Given the description of an element on the screen output the (x, y) to click on. 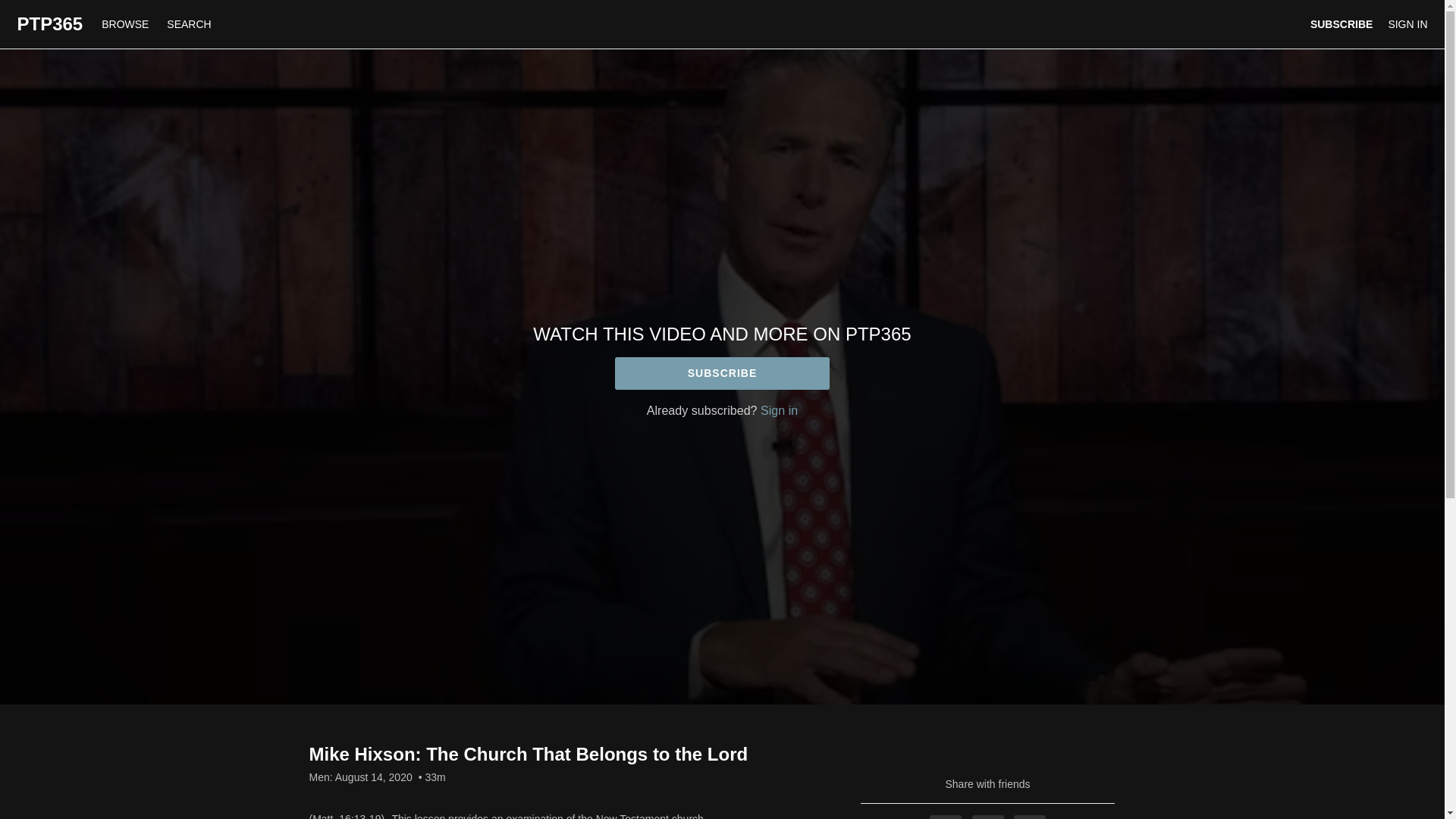
Men: August 14, 2020 (360, 776)
BROWSE (126, 24)
Twitter (988, 816)
Skip to main content (48, 7)
Facebook (945, 816)
PTP365 (49, 24)
SIGN IN (1406, 24)
Sign in (778, 409)
SUBSCRIBE (721, 373)
SEARCH (188, 24)
SUBSCRIBE (1341, 24)
Email (1029, 816)
